Given the description of an element on the screen output the (x, y) to click on. 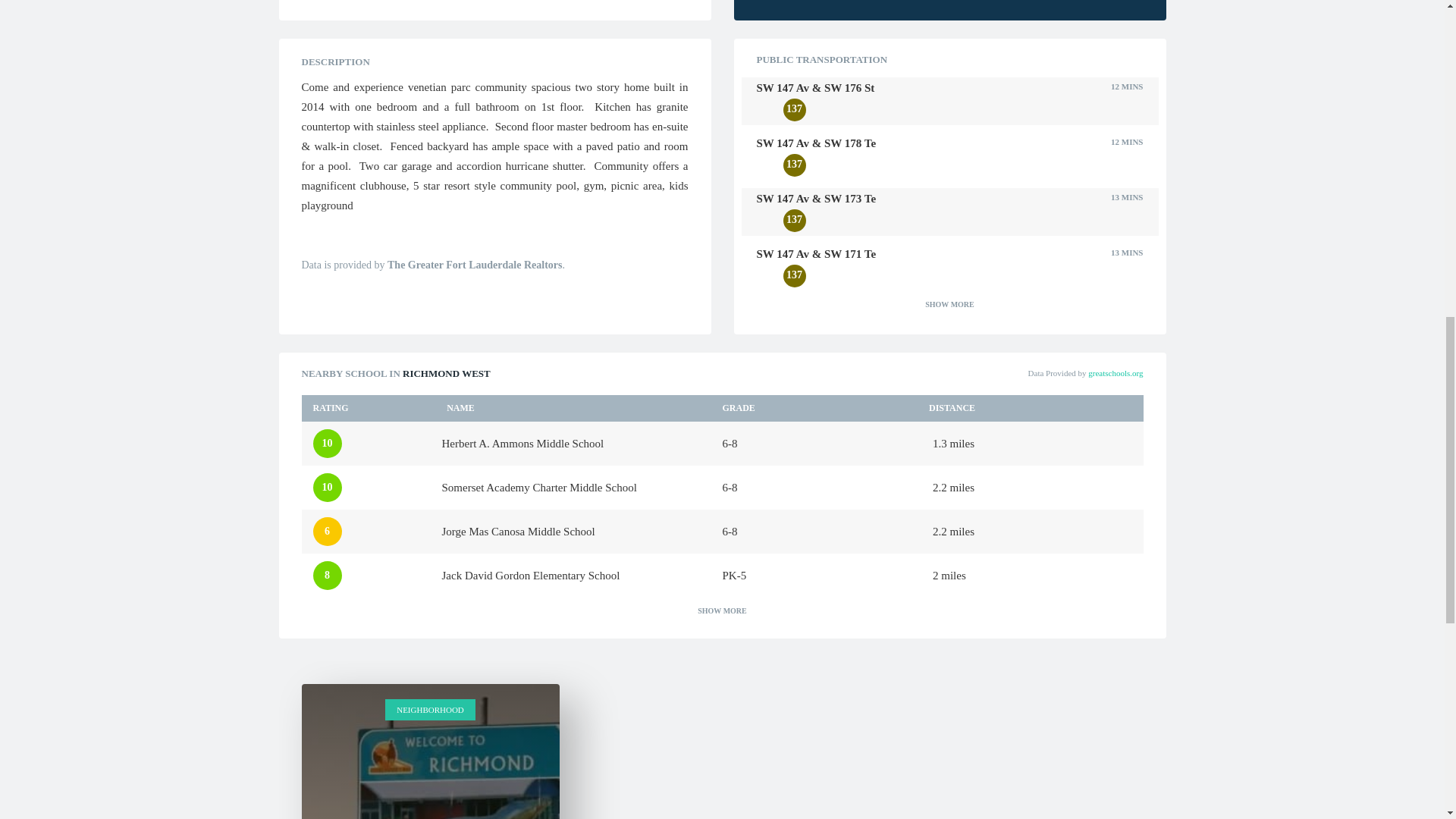
137 (794, 275)
Metrobus (767, 164)
Metrobus (767, 275)
Metrobus (767, 220)
137 (794, 109)
137 (794, 220)
137 (794, 164)
Metrobus (767, 109)
SHOW MORE (949, 311)
